Given the description of an element on the screen output the (x, y) to click on. 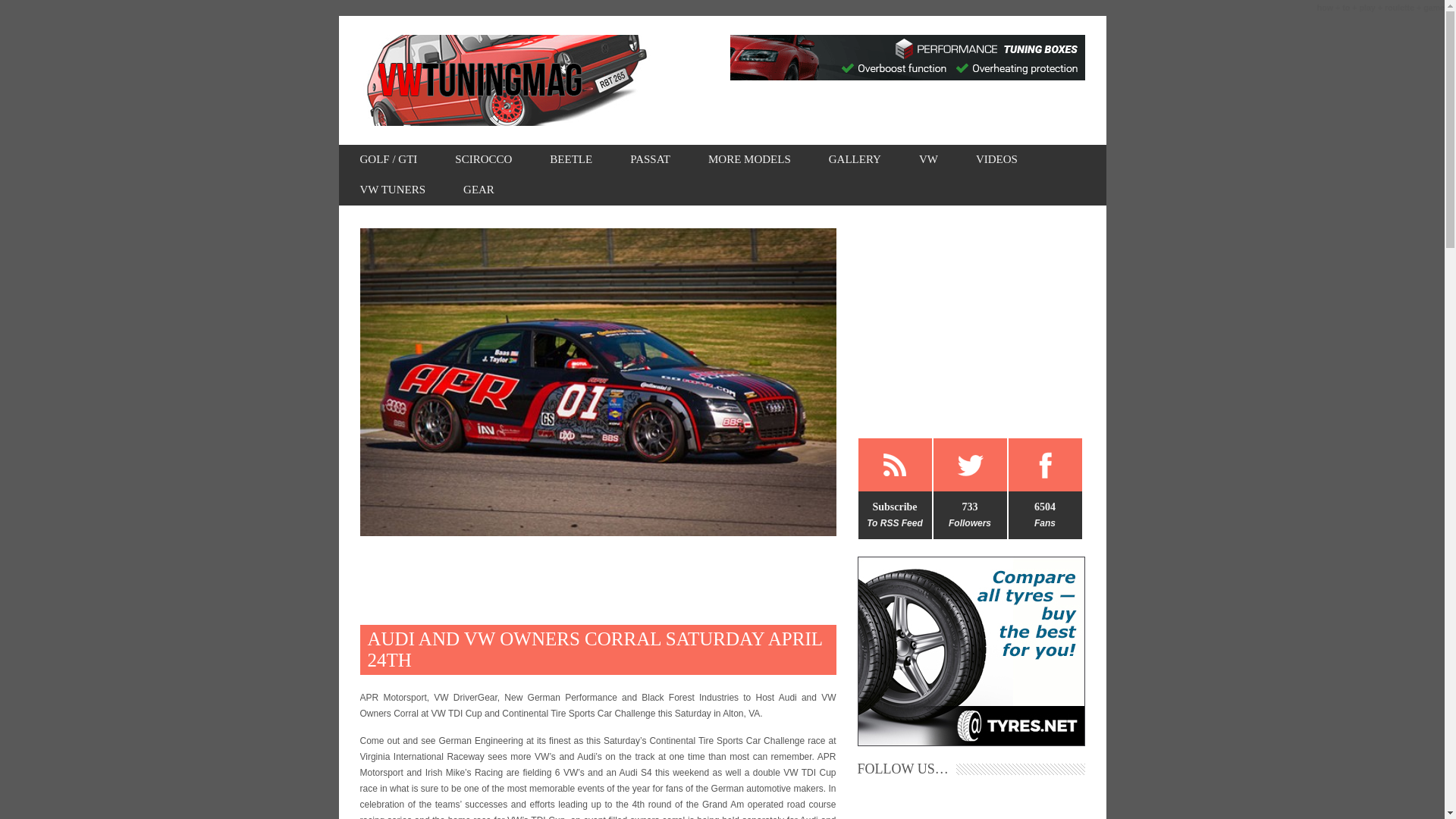
SCIROCCO (483, 159)
PASSAT (649, 159)
VW TUNERS (392, 190)
BEETLE (571, 159)
Golf tuning (387, 159)
Beetle Tuning (571, 159)
VIDEOS (996, 159)
MORE MODELS (748, 159)
GALLERY (854, 159)
GEAR (479, 190)
